Given the description of an element on the screen output the (x, y) to click on. 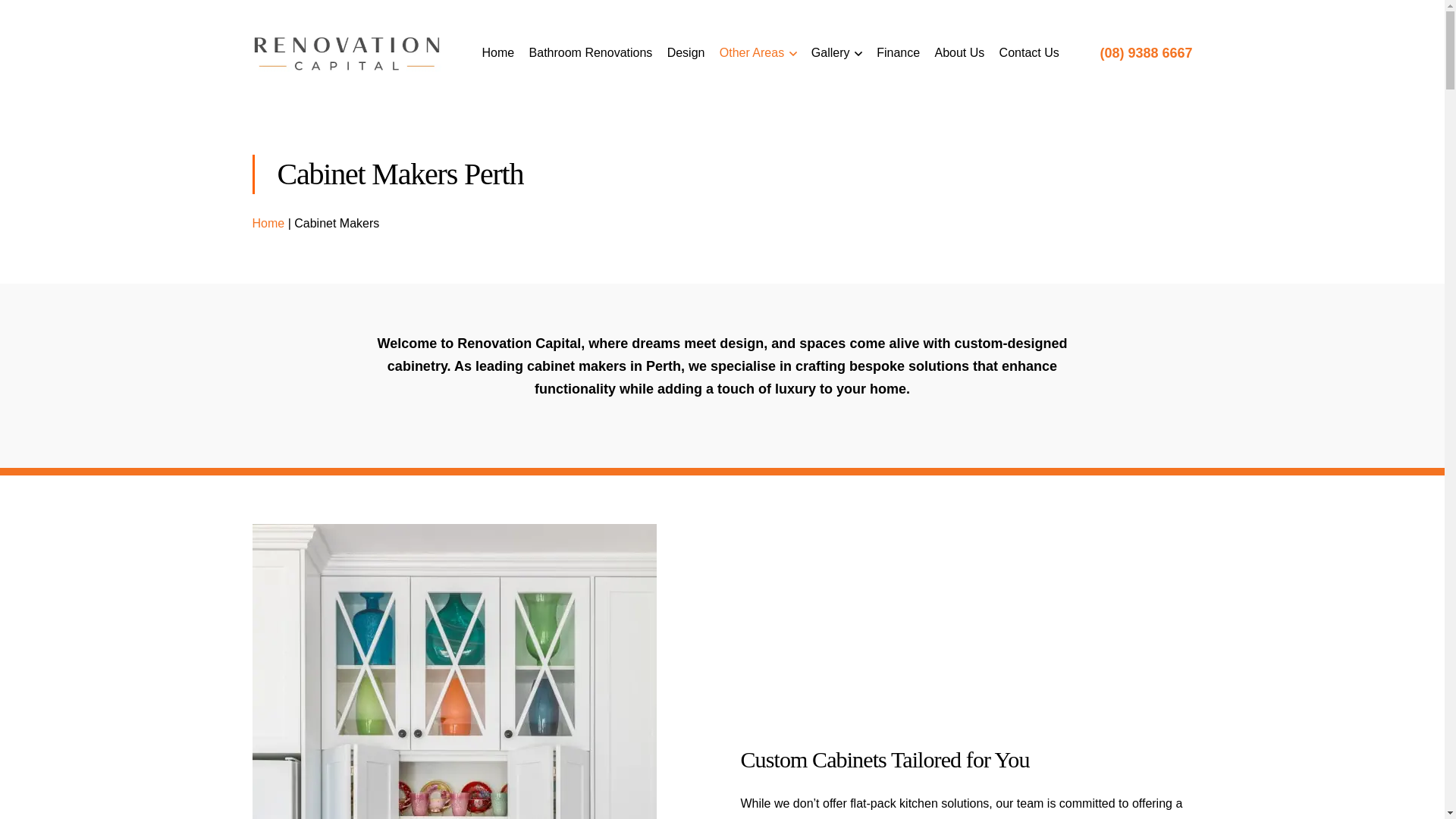
Finance Element type: text (897, 52)
Home Element type: text (498, 52)
Contact Us Element type: text (1029, 52)
Home Element type: text (267, 222)
Bathroom Renovations Element type: text (590, 52)
About Us Element type: text (959, 52)
(08) 9388 6667 Element type: text (1145, 52)
Gallery Element type: text (836, 52)
Other Areas Element type: text (758, 52)
Design Element type: text (686, 52)
